Given the description of an element on the screen output the (x, y) to click on. 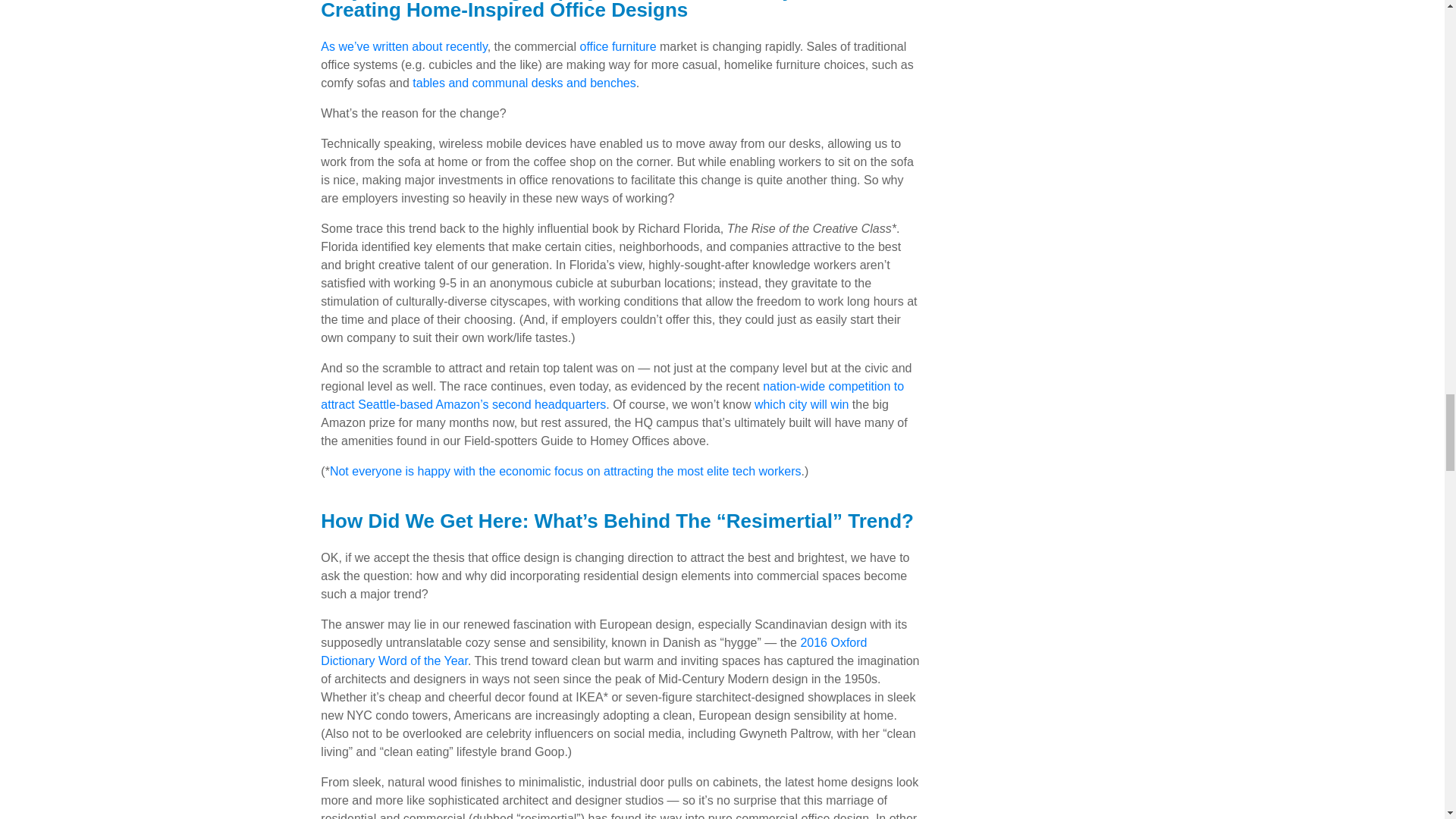
FSC Home (617, 46)
